Given the description of an element on the screen output the (x, y) to click on. 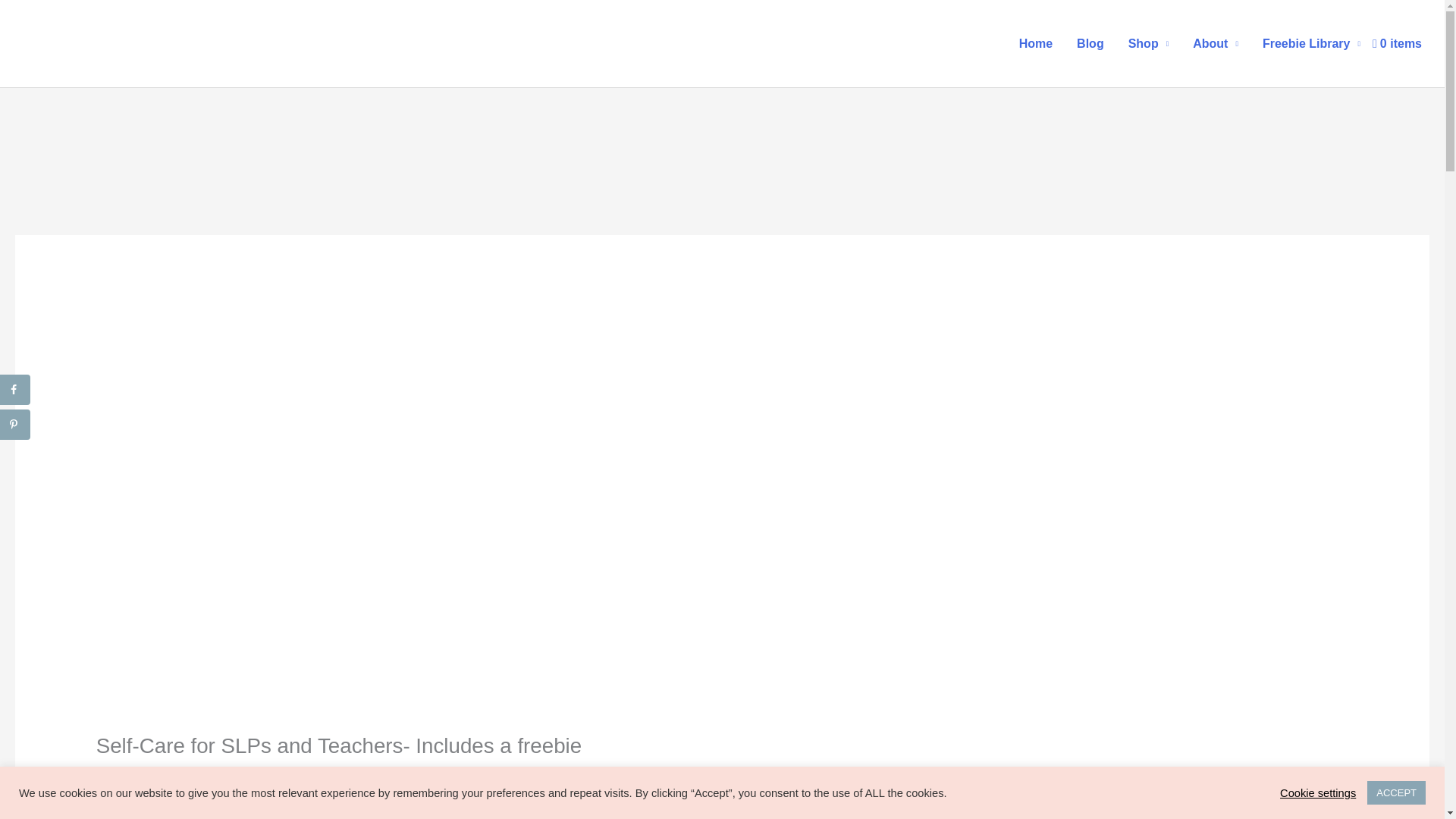
Share on Facebook (15, 389)
Blog (1090, 43)
Freebie Library (1311, 43)
Start shopping (1397, 43)
About (1215, 43)
Save to Pinterest (15, 424)
Shop (1148, 43)
Home (1035, 43)
0 items (1397, 43)
